Given the description of an element on the screen output the (x, y) to click on. 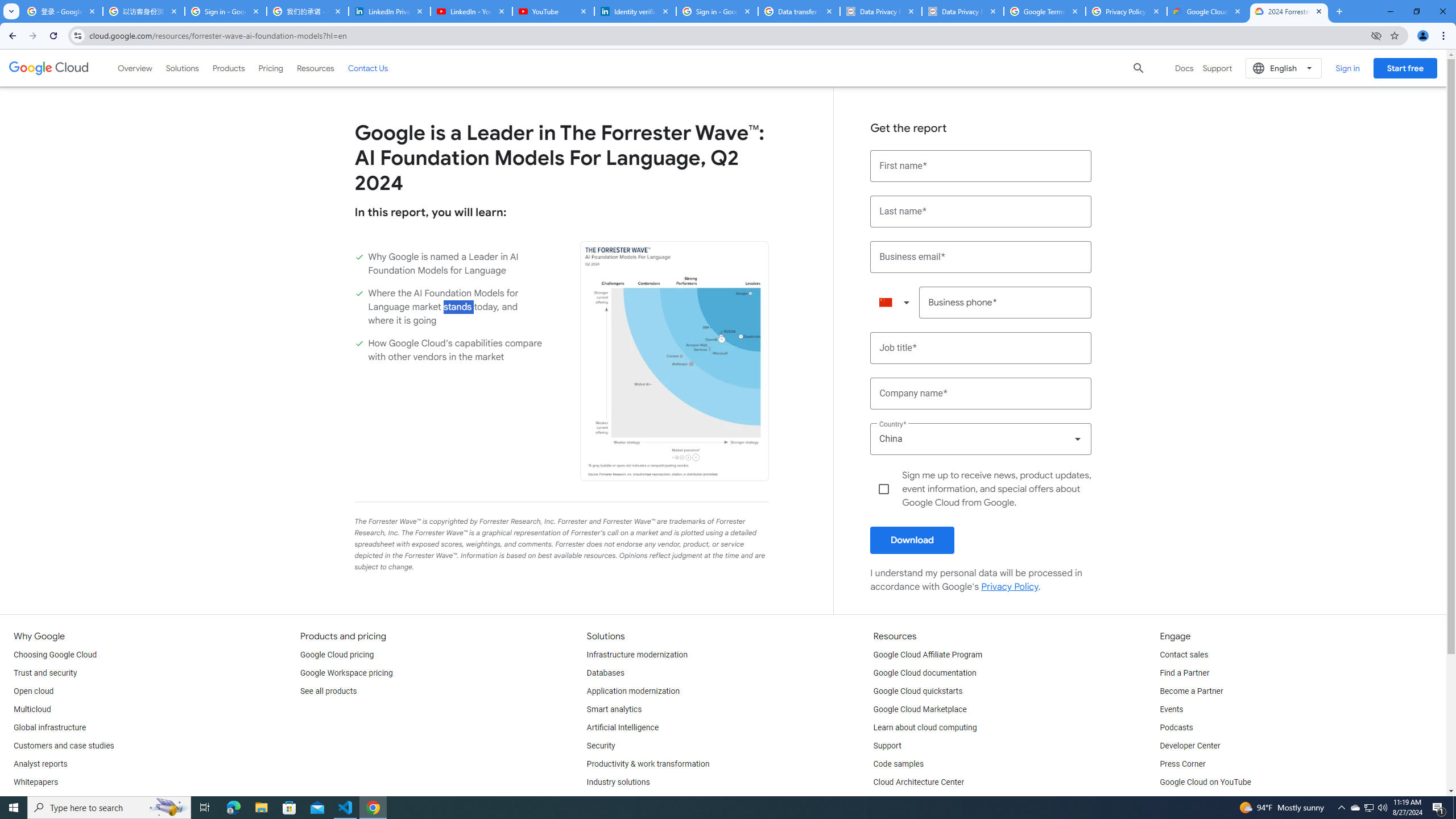
Solutions (181, 67)
Blog (21, 800)
Choosing Google Cloud (55, 655)
Open cloud (33, 691)
Cloud Architecture Center (918, 782)
DevOps solutions (617, 800)
Training (887, 800)
Sign in - Google Accounts (716, 11)
Artificial Intelligence (622, 728)
